Given the description of an element on the screen output the (x, y) to click on. 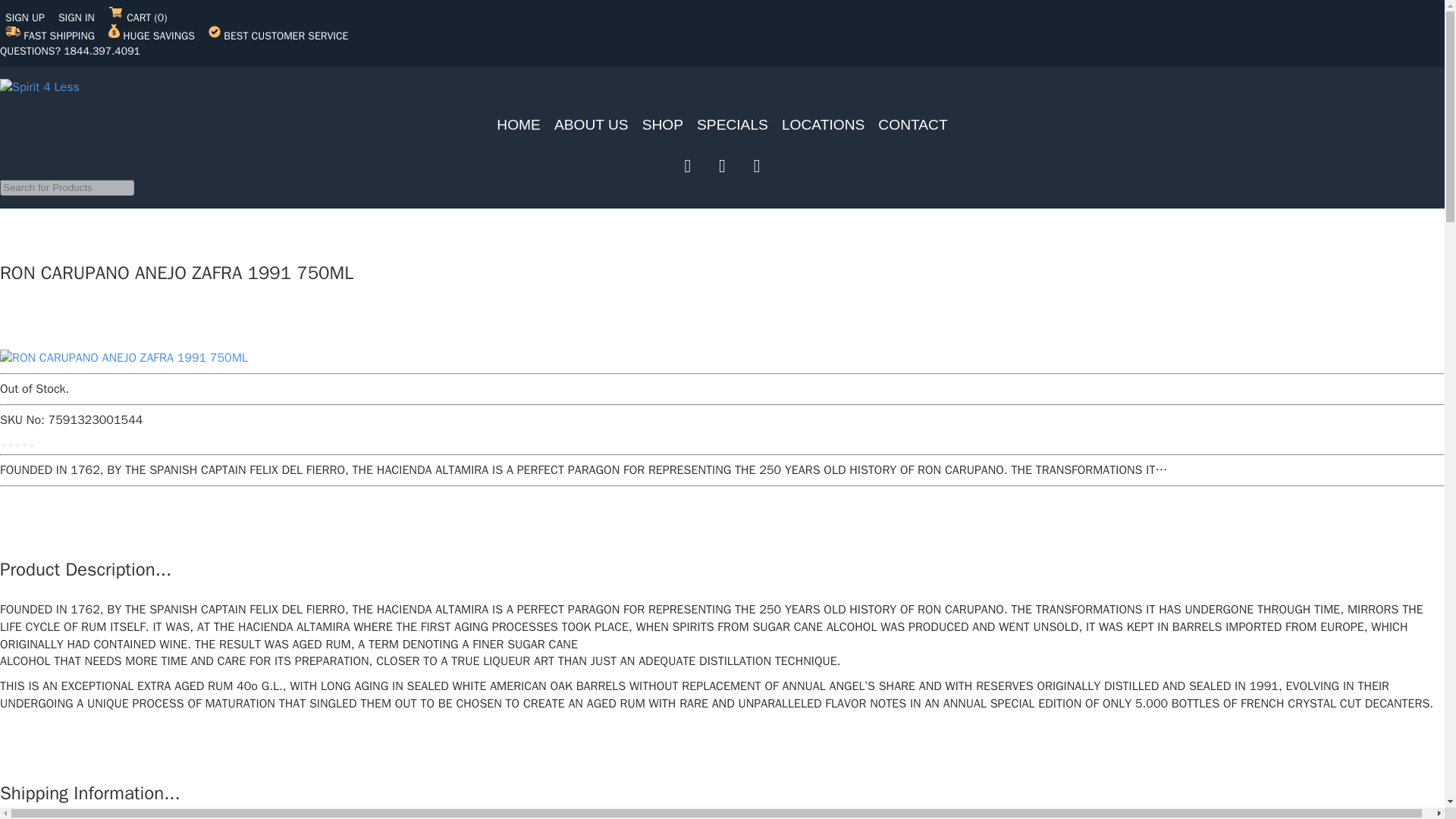
BEST CUSTOMER SERVICE (278, 35)
fast shipping (51, 35)
Spirit 4 Less (40, 87)
HOME (518, 124)
HUGE SAVINGS (153, 35)
CONTACT (912, 124)
Shopping Cart (137, 17)
Huge savings (153, 35)
Sign In (77, 17)
FAST SHIPPING (51, 35)
